Given the description of an element on the screen output the (x, y) to click on. 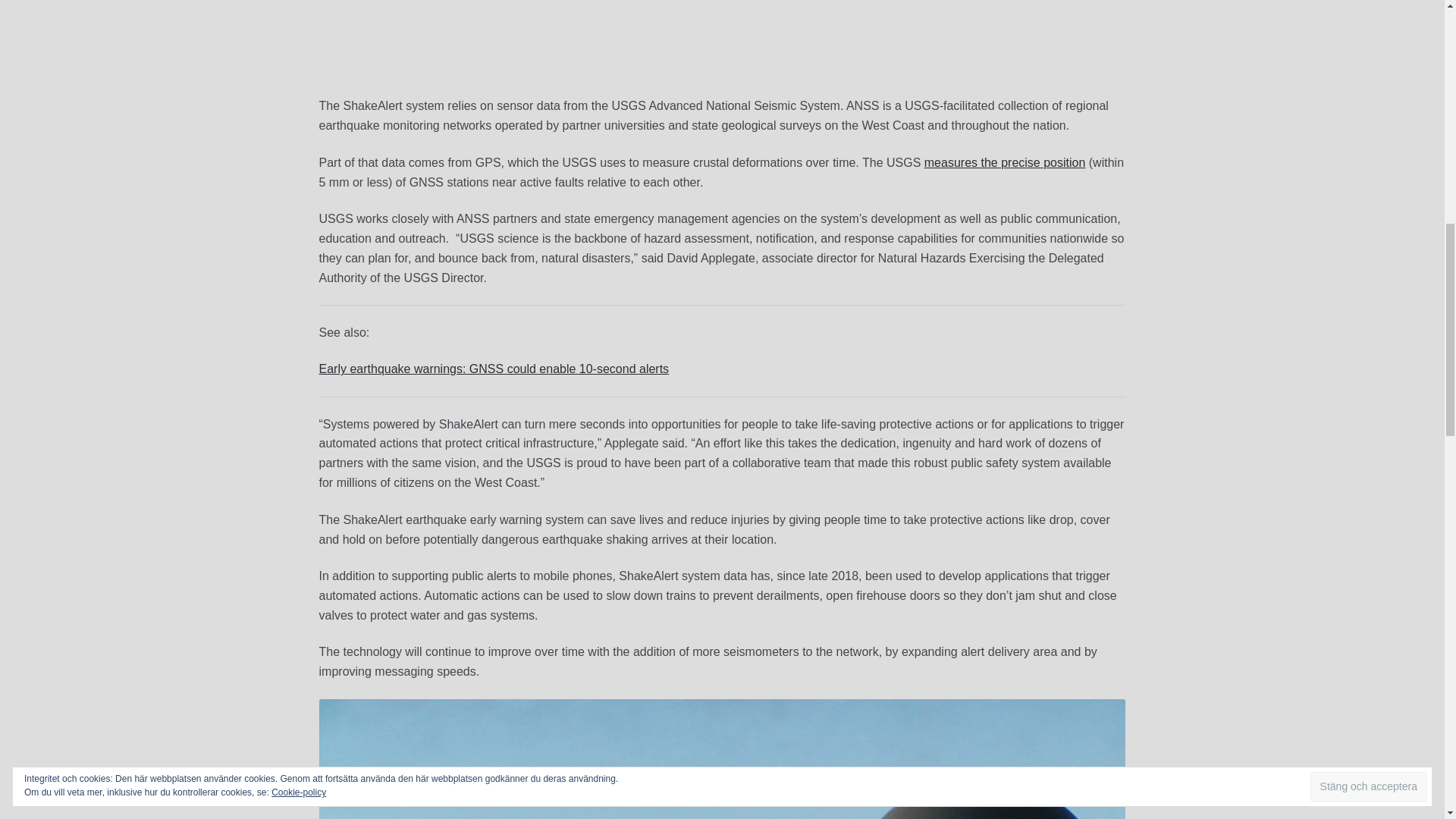
YouTube video player (531, 36)
measures the precise position (1005, 162)
